Given the description of an element on the screen output the (x, y) to click on. 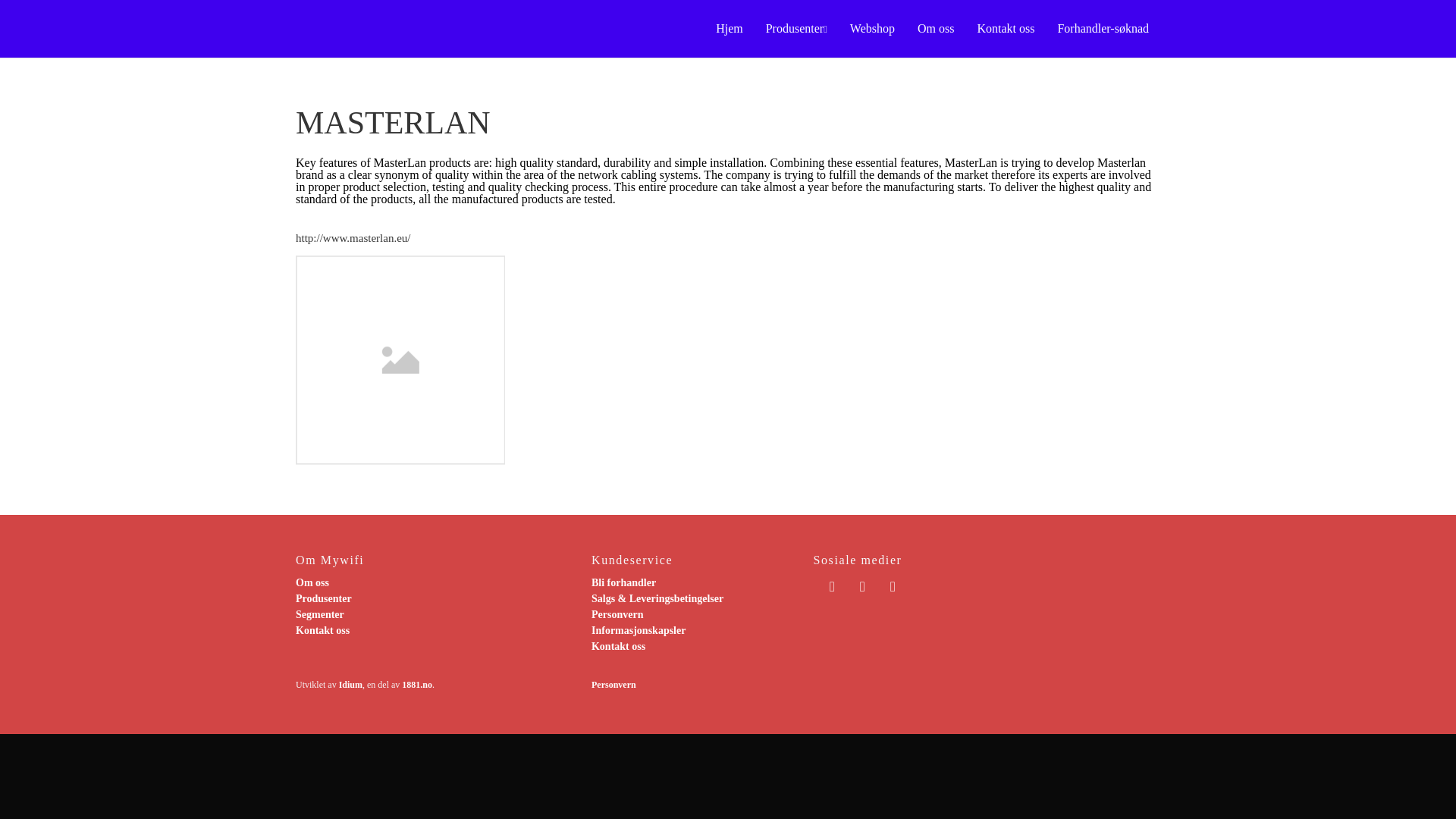
Personvern (617, 614)
Produsenter (323, 598)
Kontakt oss (1005, 28)
Webshop (871, 28)
1881.no (416, 684)
Segmenter (319, 614)
Om oss (312, 582)
Om oss (935, 28)
Informasjonskapsler (638, 630)
Hjem (729, 28)
Produsenter (796, 28)
Idium (350, 684)
Bli forhandler (623, 582)
Kontakt oss (618, 645)
Personvern (613, 684)
